Given the description of an element on the screen output the (x, y) to click on. 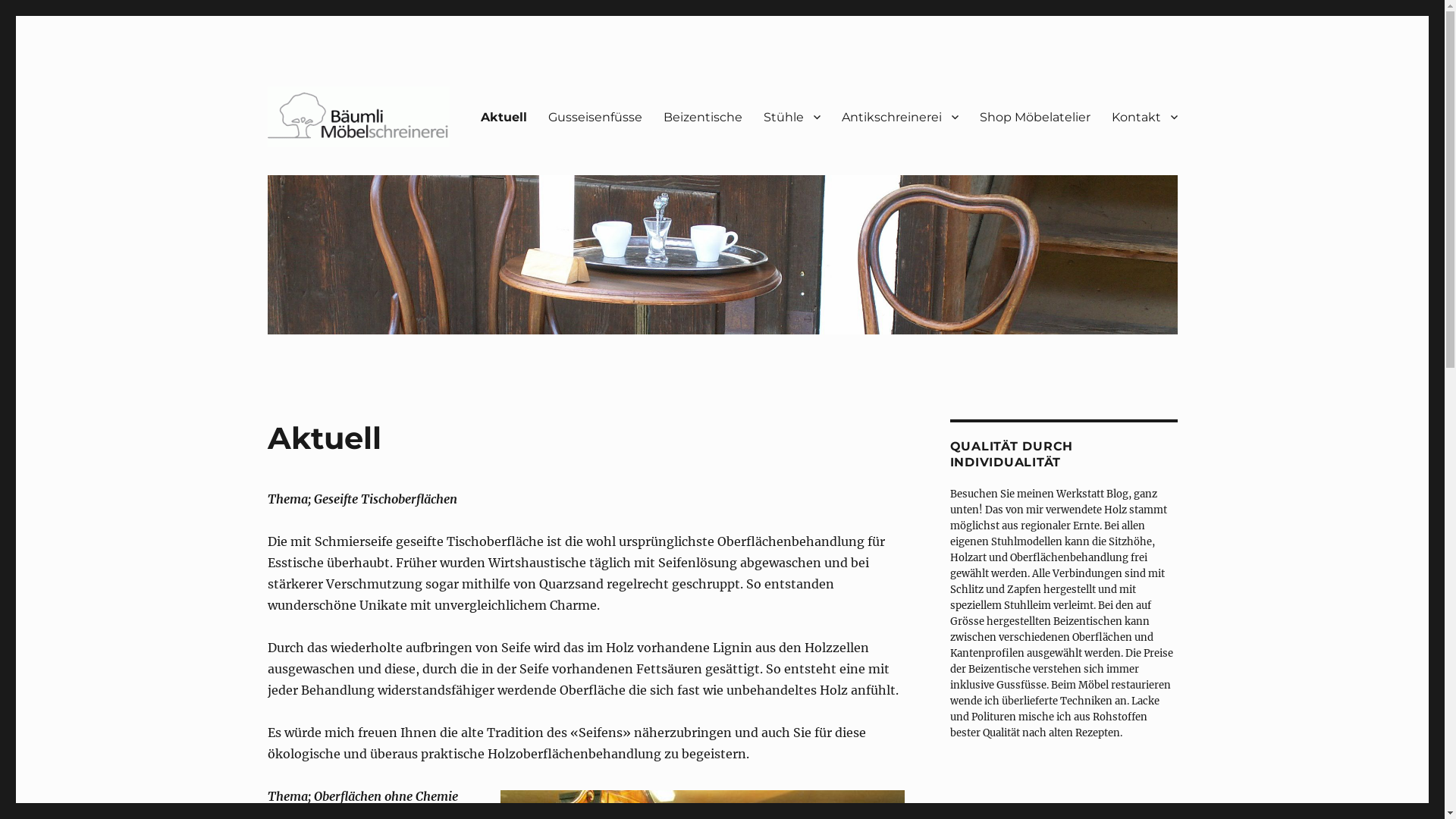
Aktuell Element type: text (503, 116)
Beizentische Element type: text (702, 116)
Antikschreinerei Element type: text (900, 116)
Kontakt Element type: text (1144, 116)
